Given the description of an element on the screen output the (x, y) to click on. 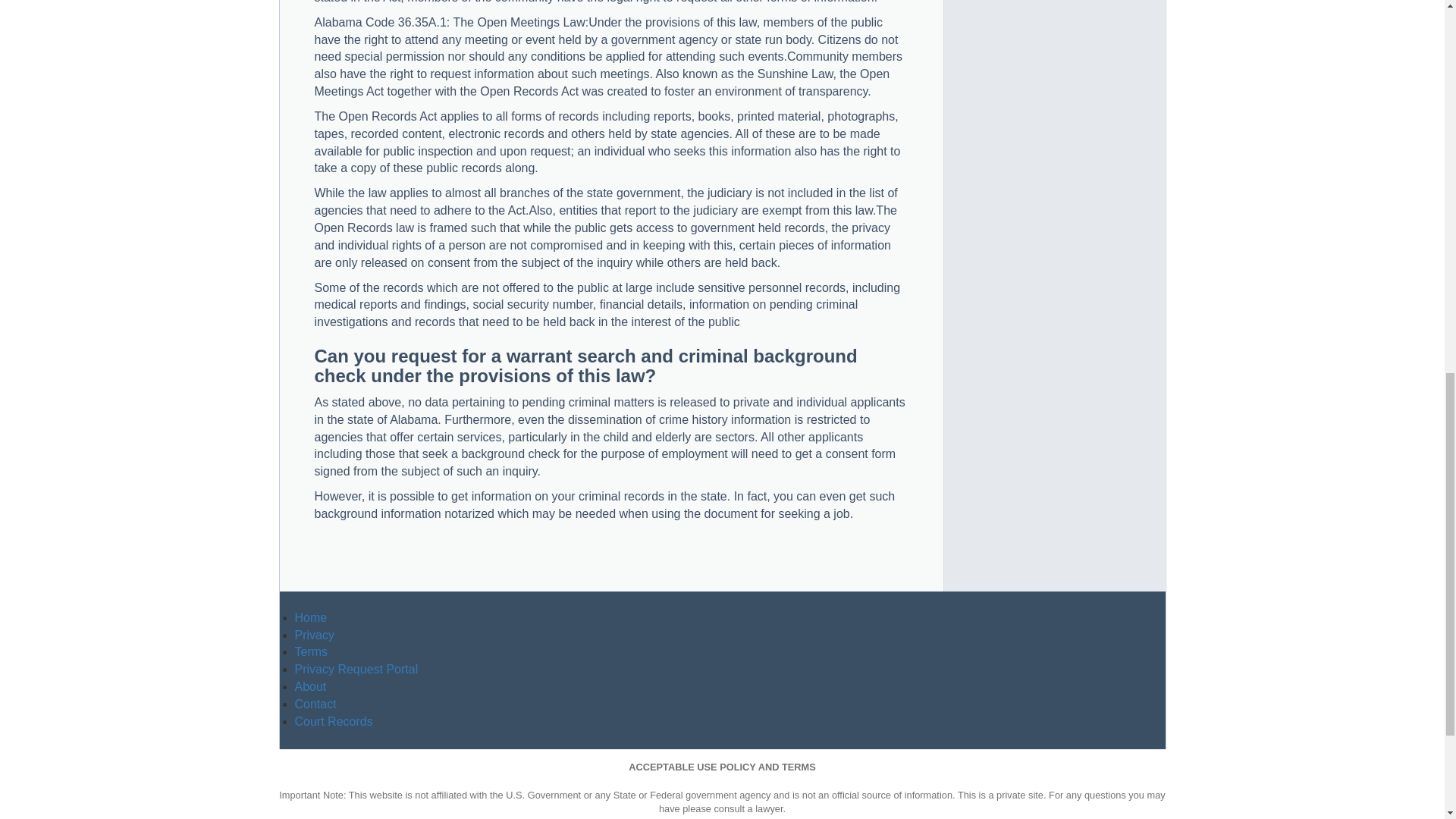
Privacy (313, 634)
Court Records (333, 721)
Home Page (310, 617)
About (310, 686)
Privacy Request Portal (355, 668)
Court Records (333, 721)
Contact (315, 703)
Terms of Service (310, 651)
contact us (315, 703)
Terms (310, 651)
About Us (310, 686)
Home (310, 617)
Privacy (313, 634)
